Given the description of an element on the screen output the (x, y) to click on. 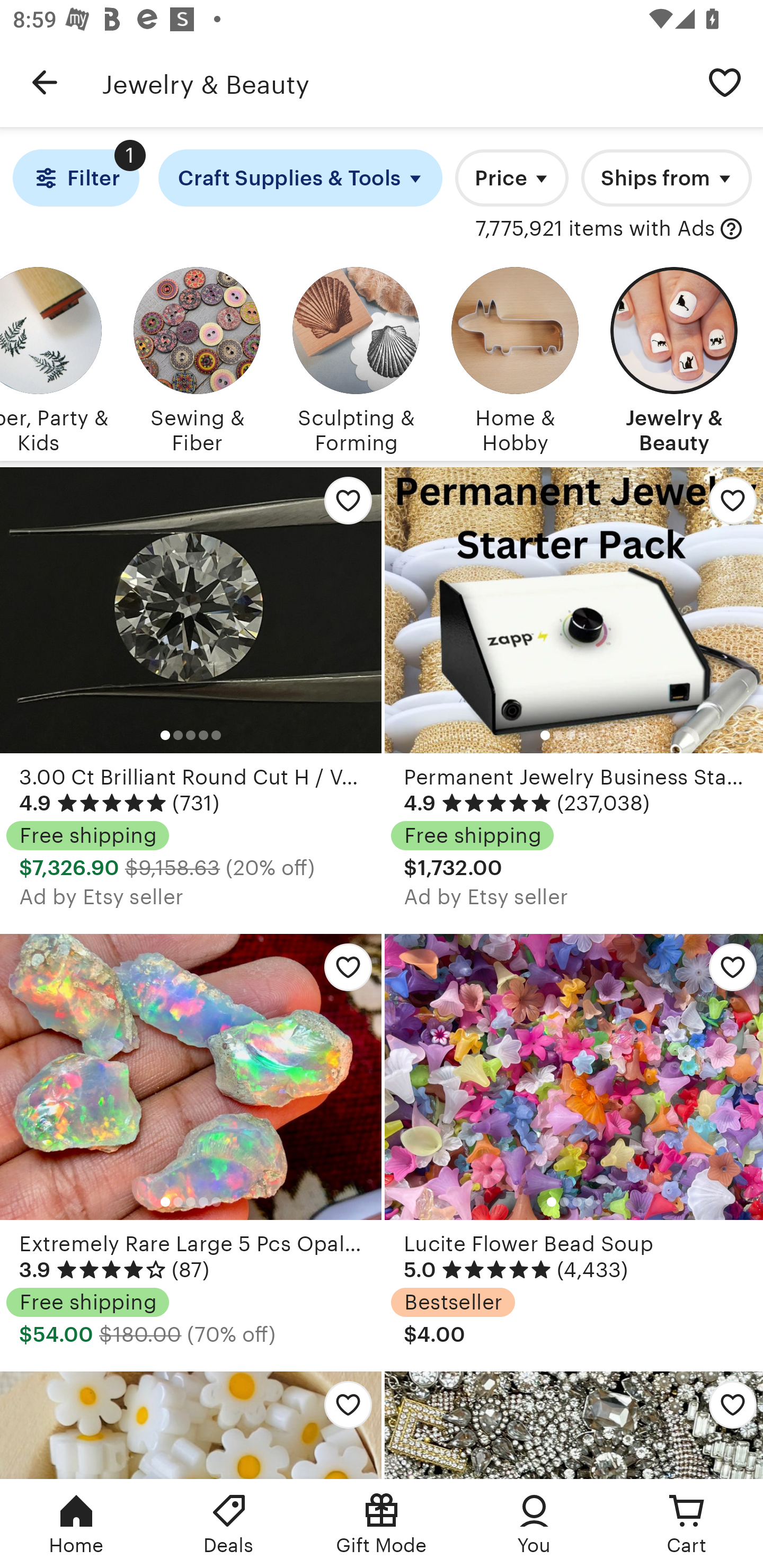
Navigate up (44, 82)
Save search (724, 81)
Jewelry & Beauty (393, 82)
Filter (75, 177)
Craft Supplies & Tools (300, 177)
Price (511, 177)
Ships from (666, 177)
7,775,921 items with Ads (595, 228)
with Ads (730, 228)
Paper, Party & Kids (54, 357)
Sewing & Fiber (197, 357)
Sculpting & Forming (355, 357)
Home & Hobby (514, 357)
Jewelry & Beauty (673, 357)
Add Lucite Flower Bead Soup to favorites (726, 971)
Deals (228, 1523)
Gift Mode (381, 1523)
You (533, 1523)
Cart (686, 1523)
